Given the description of an element on the screen output the (x, y) to click on. 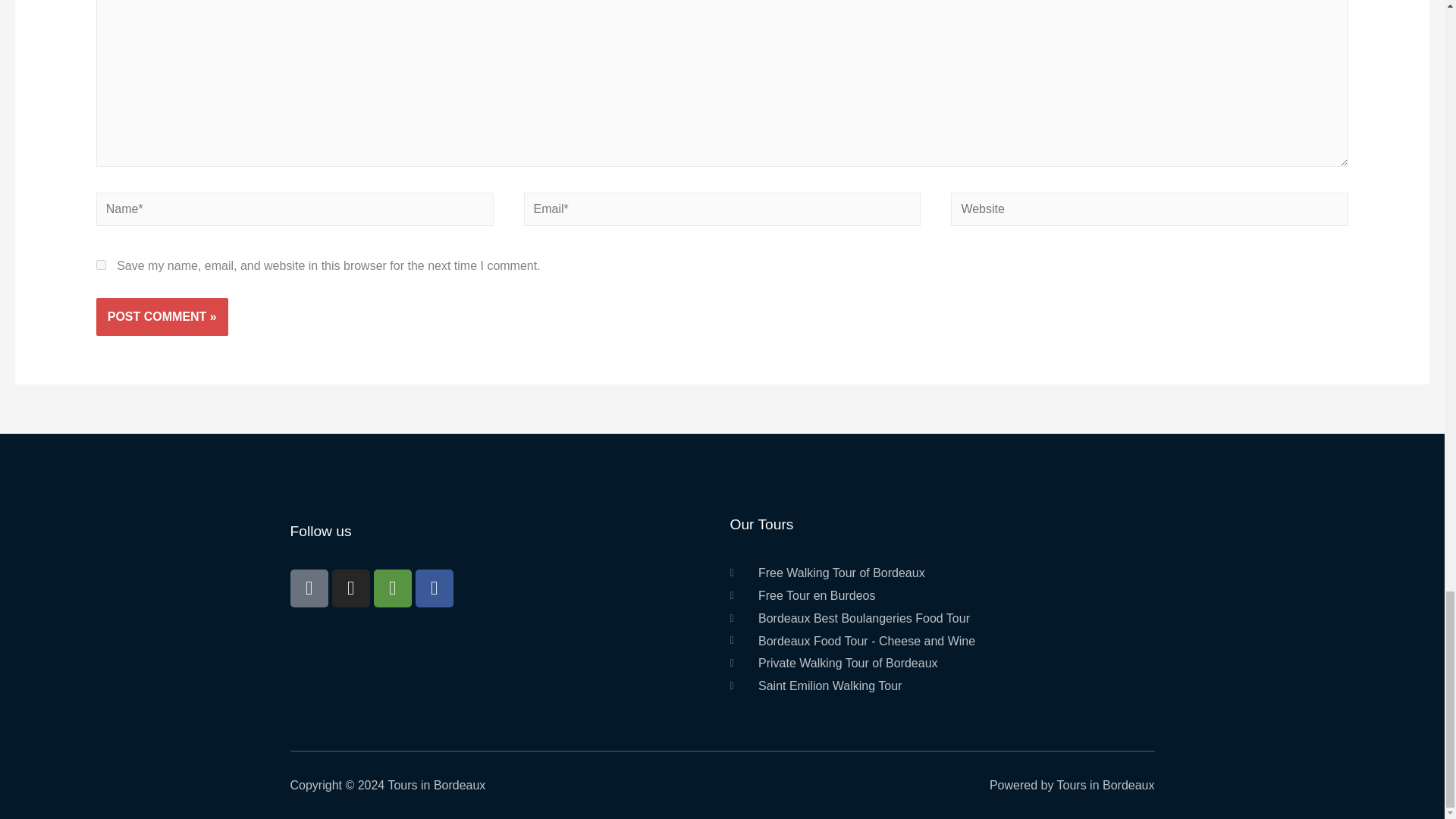
Private Walking Tour of Bordeaux (938, 662)
Bordeaux Best Boulangeries Food Tour (938, 618)
Free Tour en Burdeos (938, 595)
Saint Emilion Walking Tour (938, 685)
Bordeaux Food Tour - Cheese and Wine (938, 640)
Free Walking Tour of Bordeaux (938, 572)
yes (101, 265)
